Given the description of an element on the screen output the (x, y) to click on. 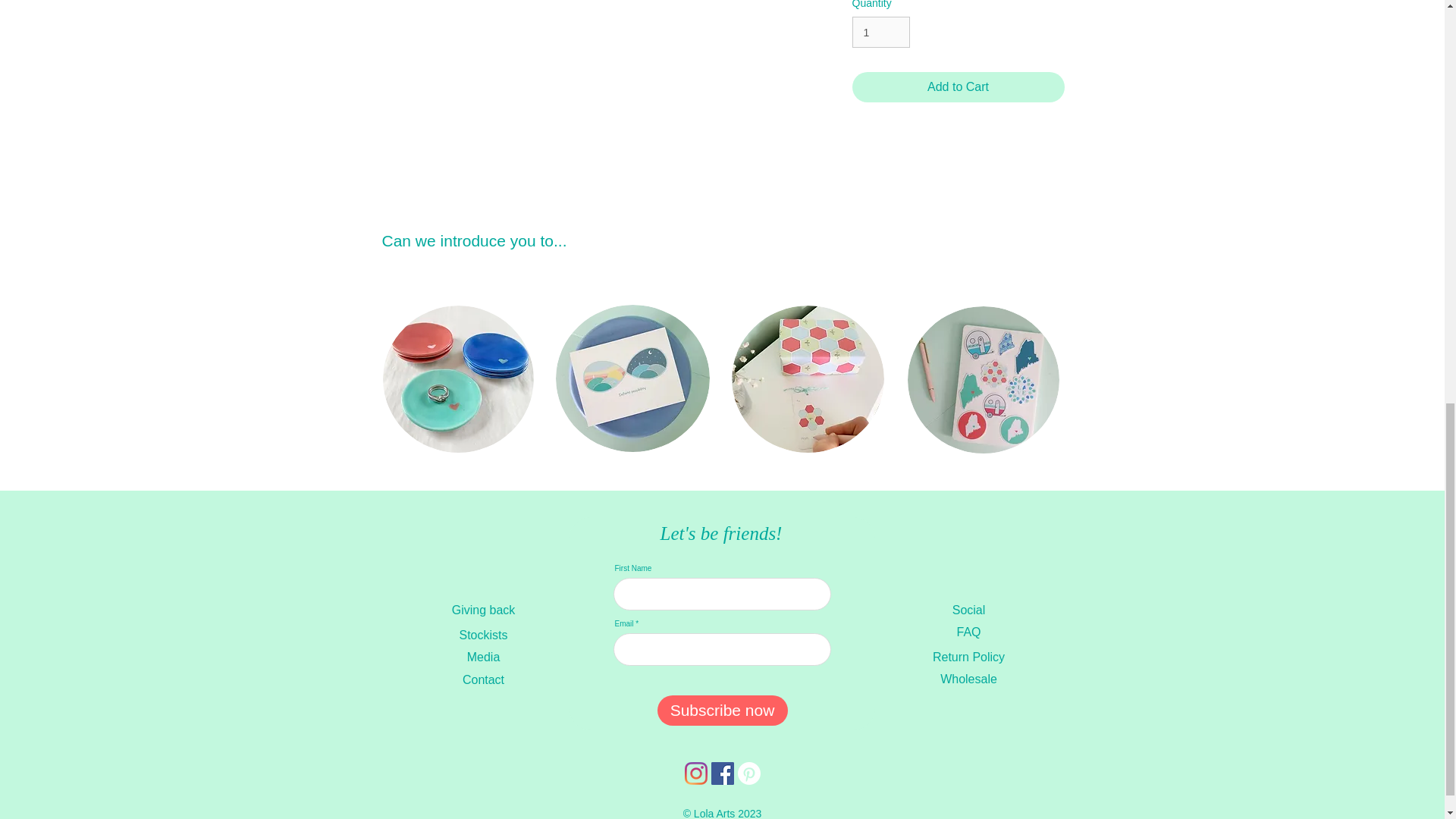
Wholesale (968, 679)
Giving back (483, 610)
Add to Cart (957, 87)
Return Policy (968, 657)
FAQ (968, 632)
Social (968, 610)
Media (483, 657)
1 (880, 31)
Contact (483, 680)
Stockists (483, 634)
Subscribe now (721, 710)
